Given the description of an element on the screen output the (x, y) to click on. 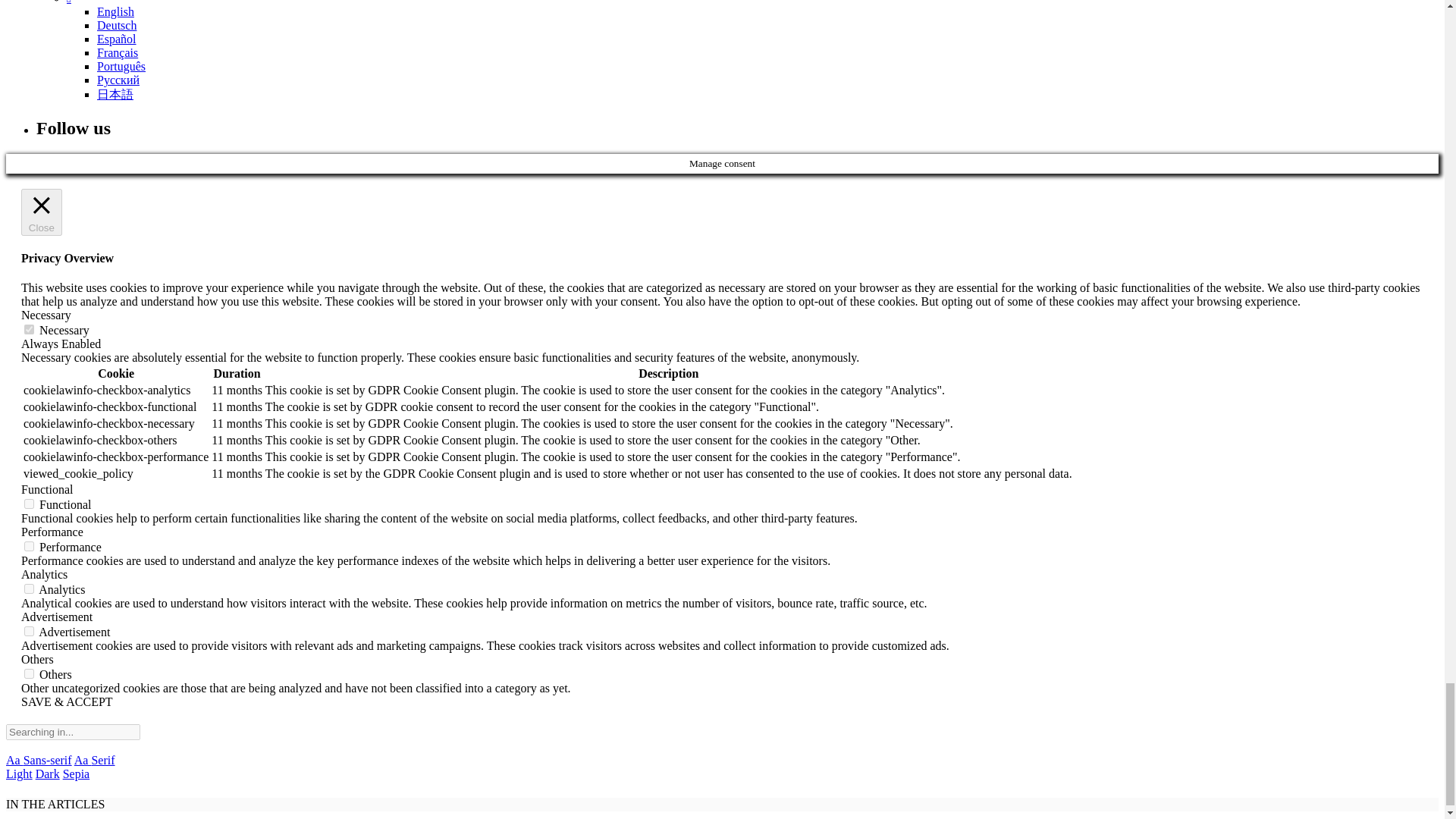
on (28, 631)
on (28, 546)
on (28, 329)
on (28, 588)
on (28, 673)
on (28, 503)
